Given the description of an element on the screen output the (x, y) to click on. 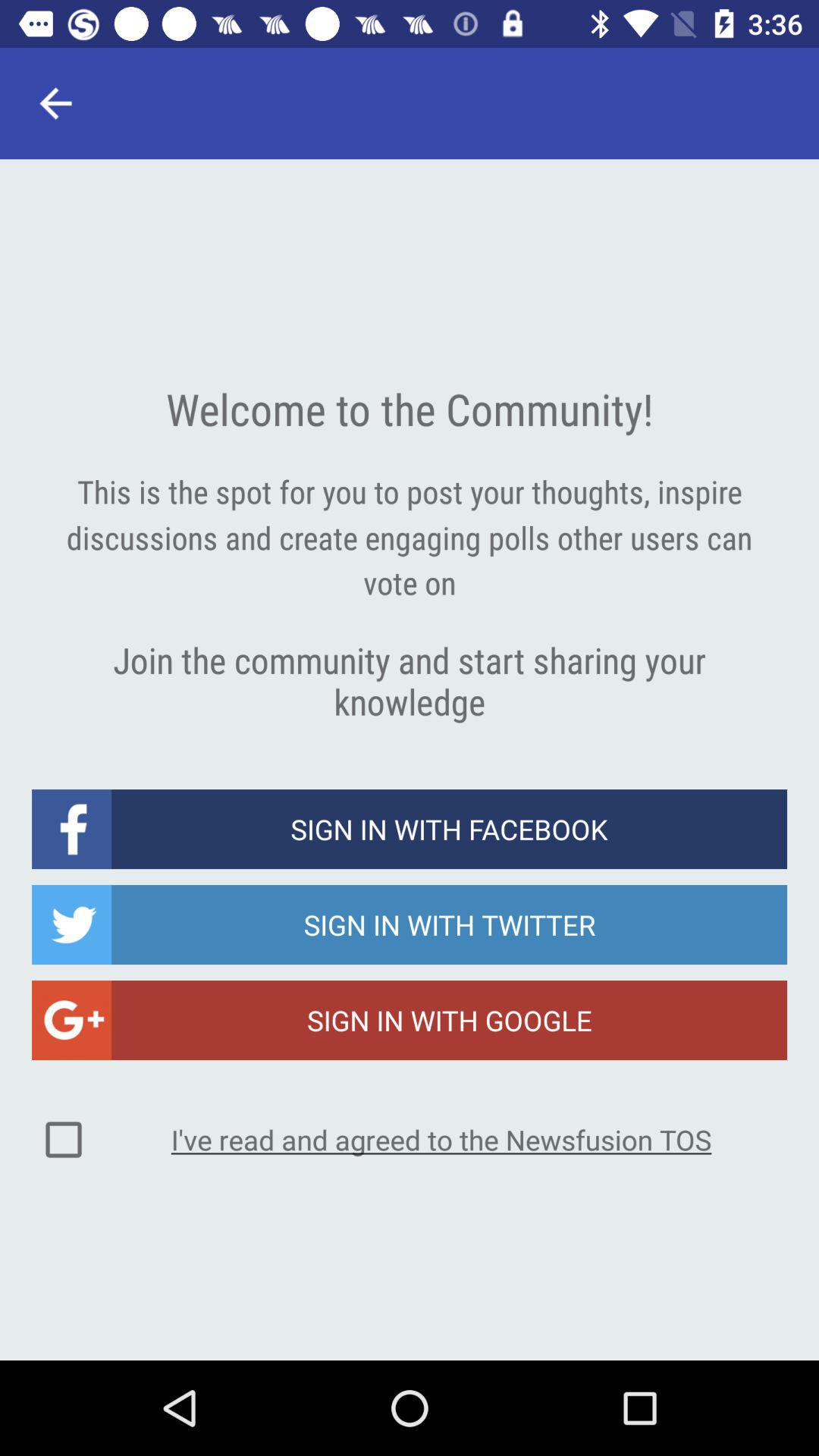
select the icon to the left of the i ve read item (63, 1139)
